Given the description of an element on the screen output the (x, y) to click on. 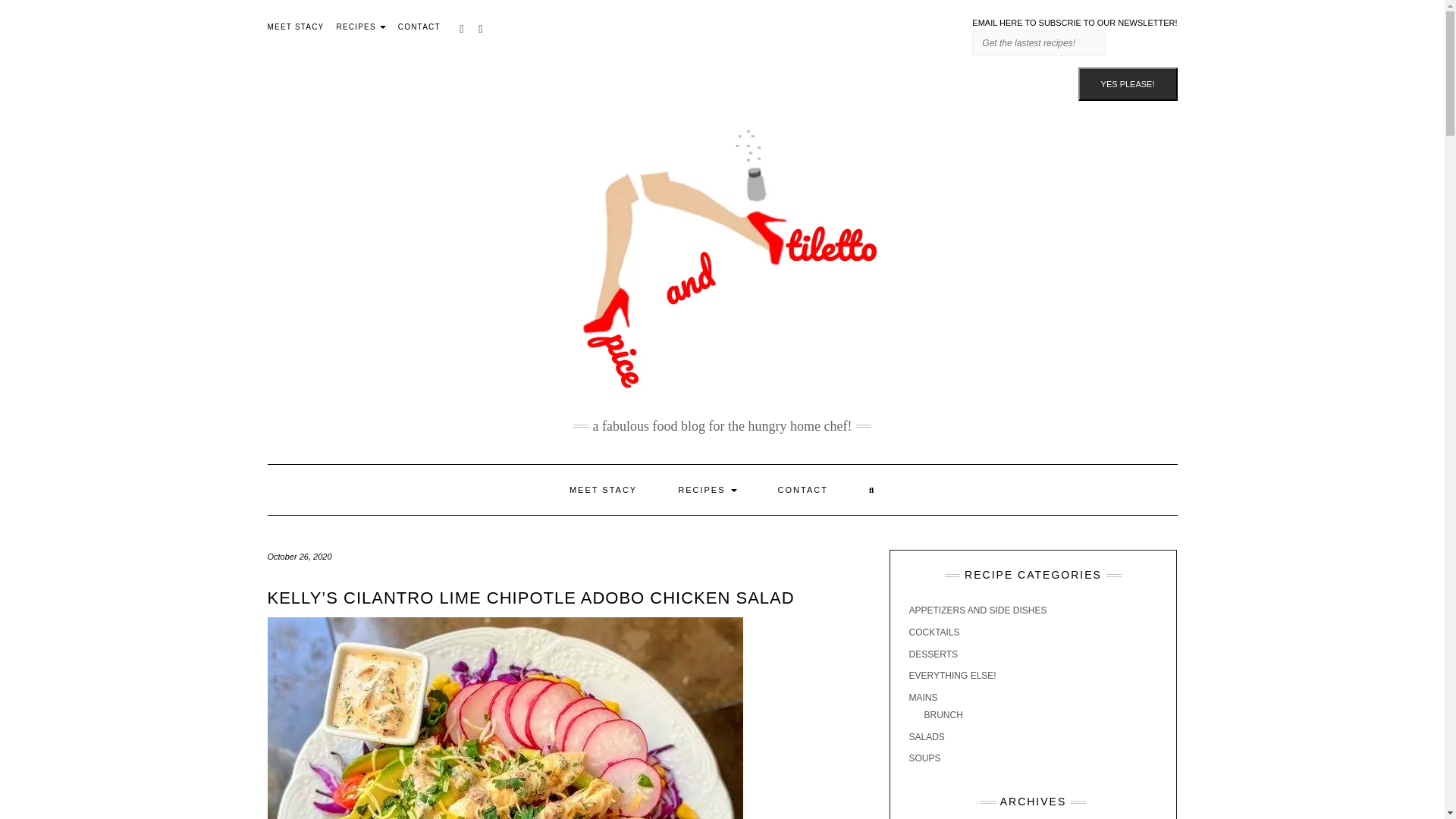
Yes Please! (1127, 83)
RECIPES (360, 26)
Yes Please! (1127, 83)
MEET STACY (294, 26)
RECIPES (707, 490)
CONTACT (419, 26)
MEET STACY (603, 490)
INSTAGRAM (480, 27)
PINTEREST (461, 27)
CONTACT (802, 490)
